Given the description of an element on the screen output the (x, y) to click on. 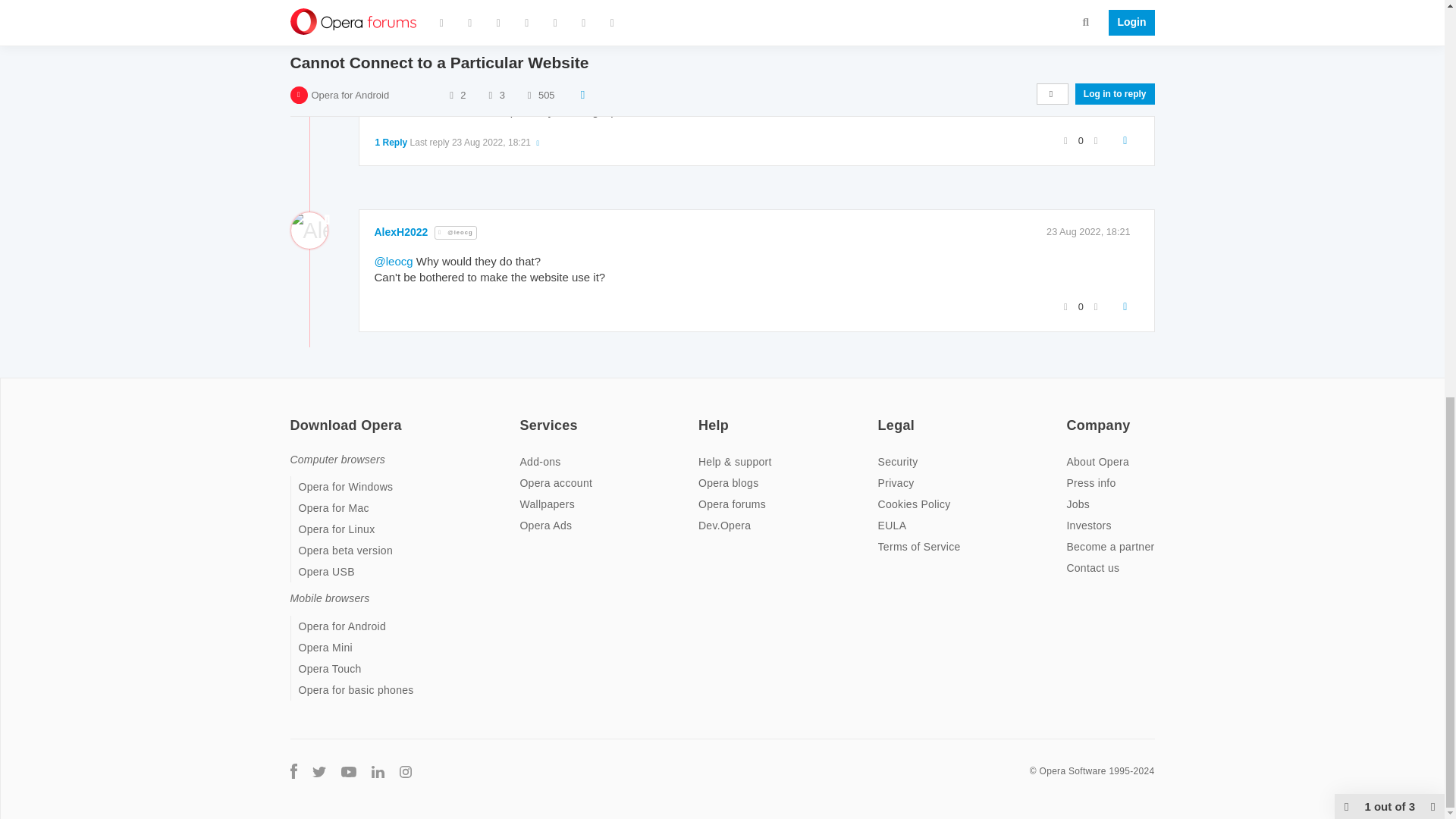
on (523, 415)
on (702, 415)
on (1070, 415)
on (881, 415)
on (293, 415)
